Given the description of an element on the screen output the (x, y) to click on. 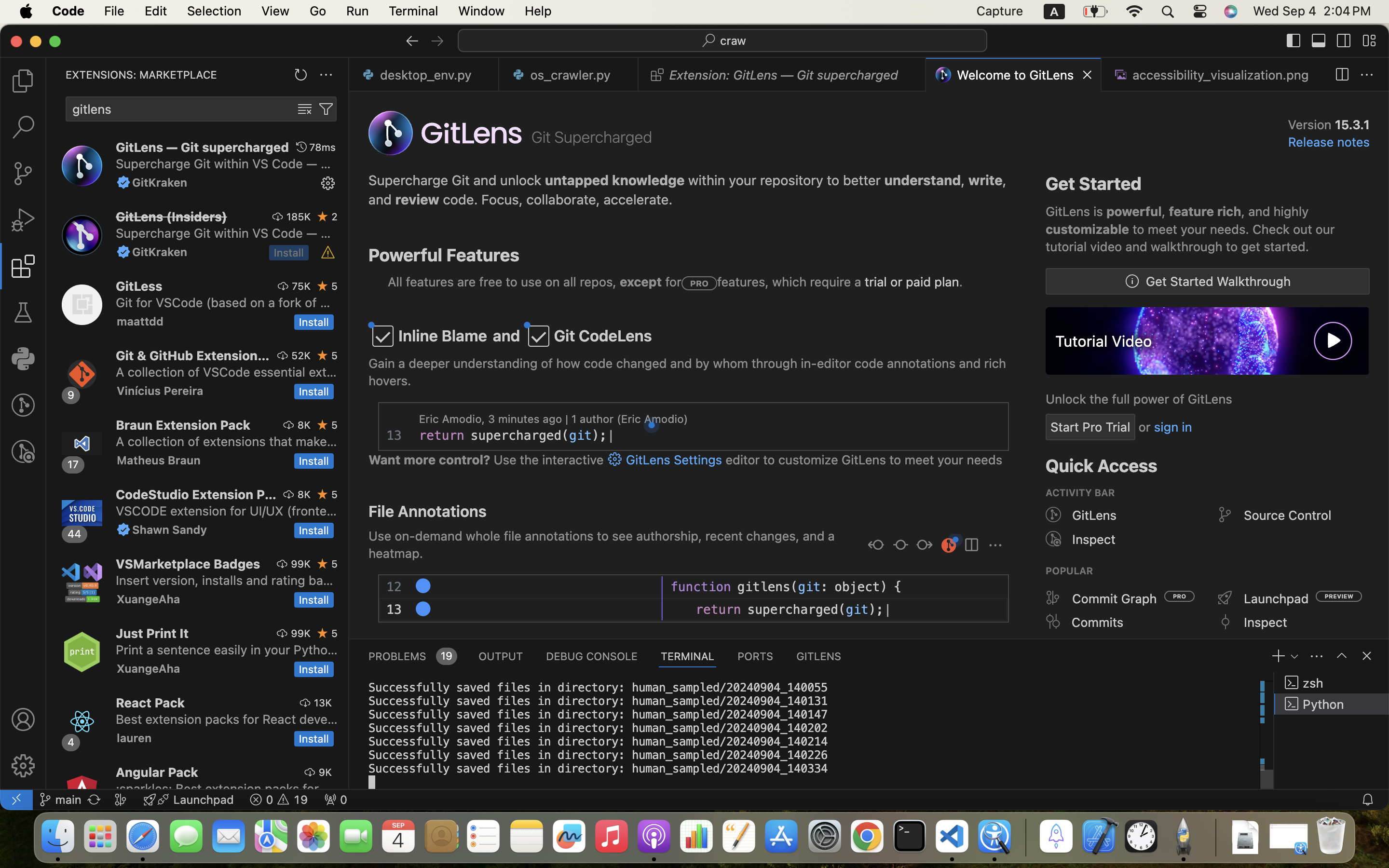
ACTIVITY BAR Element type: AXStaticText (1080, 492)
 Element type: AXStaticText (876, 545)
1 TERMINAL Element type: AXRadioButton (687, 655)
understand Element type: AXStaticText (922, 180)
, and highly Element type: AXStaticText (1274, 211)
